Given the description of an element on the screen output the (x, y) to click on. 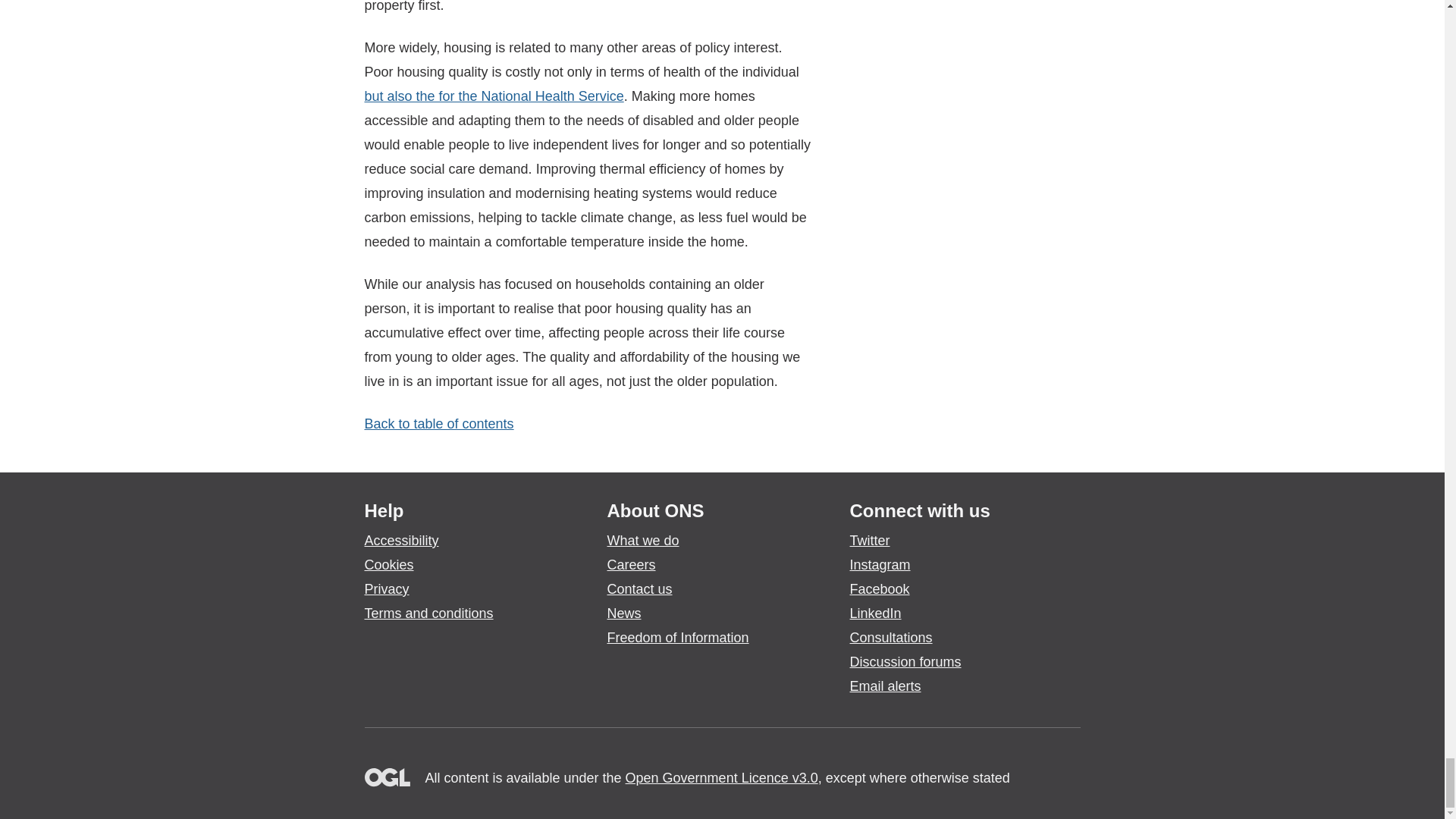
Back to table of contents (438, 423)
